Given the description of an element on the screen output the (x, y) to click on. 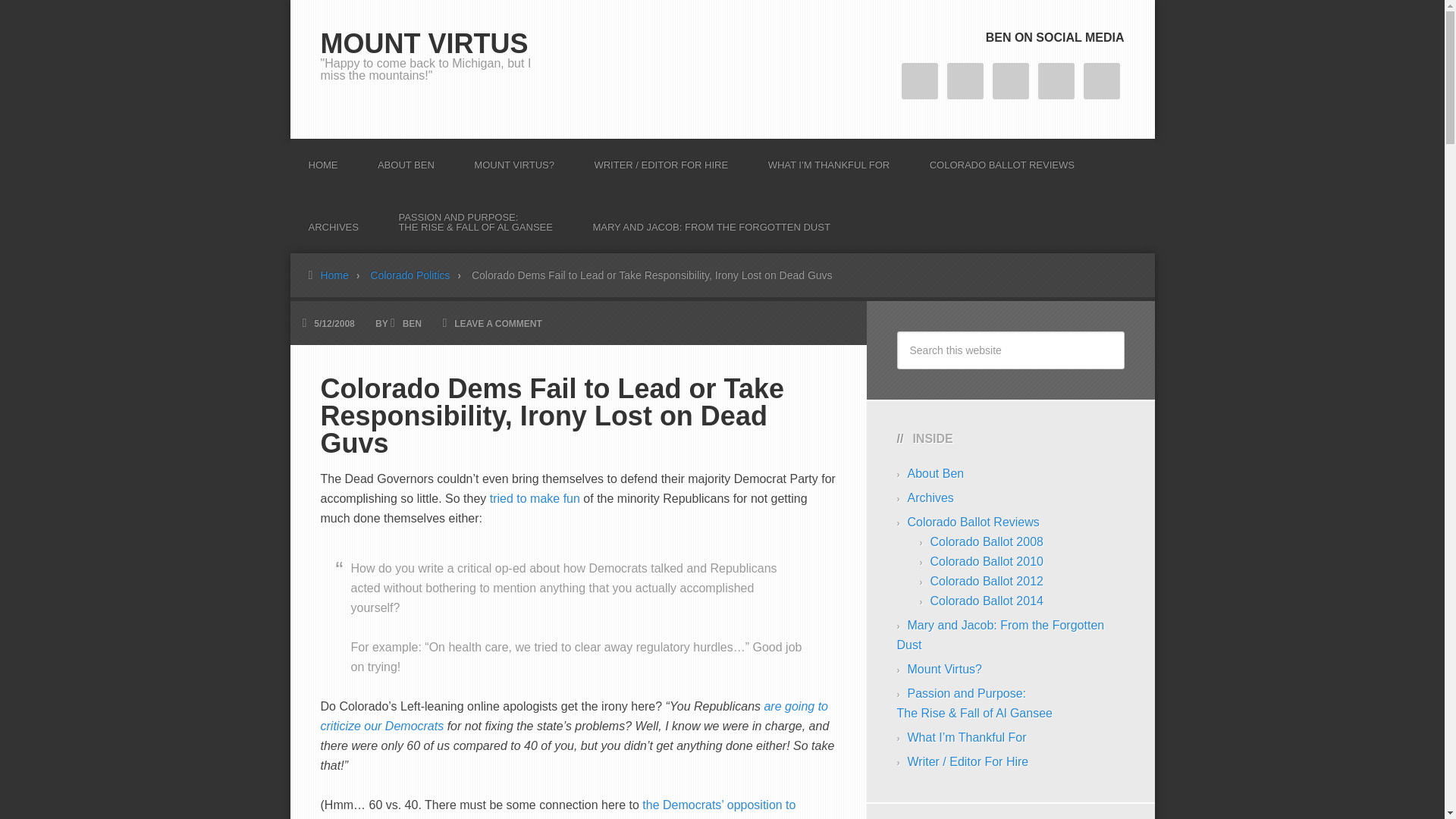
ARCHIVES (332, 222)
Home (343, 275)
BEN (412, 323)
are going to criticize our Democrats (573, 716)
Colorado Politics (418, 275)
MARY AND JACOB: FROM THE FORGOTTEN DUST (710, 222)
HOME (322, 159)
LEAVE A COMMENT (497, 323)
MOUNT VIRTUS? (513, 159)
MOUNT VIRTUS (423, 42)
ABOUT BEN (405, 159)
COLORADO BALLOT REVIEWS (1002, 159)
tried to make fun (534, 498)
